Given the description of an element on the screen output the (x, y) to click on. 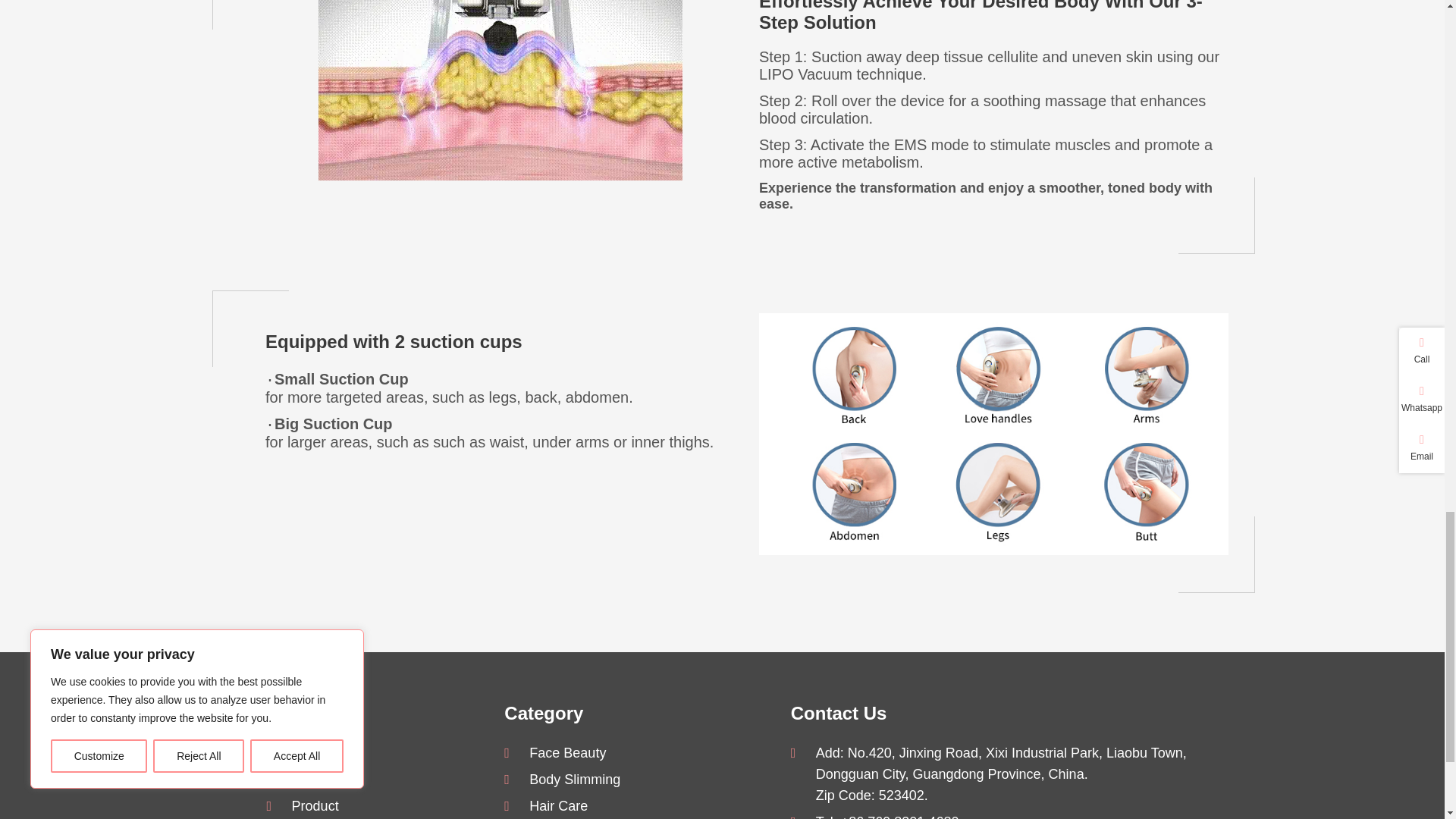
Home (371, 752)
About Us (371, 779)
